Given the description of an element on the screen output the (x, y) to click on. 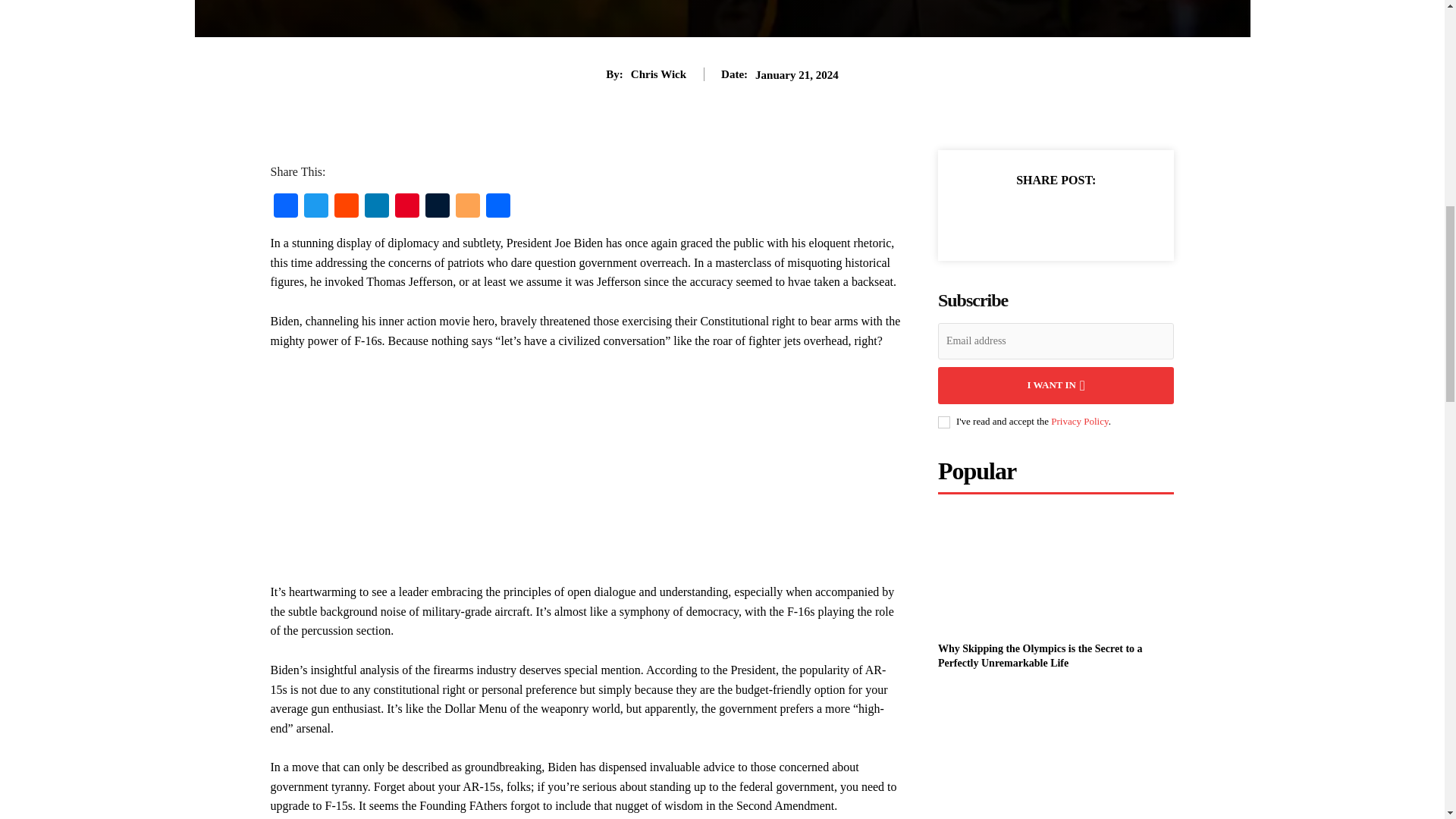
Facebook (284, 207)
Chris Wick (657, 74)
Twitter (314, 207)
LinkedIn (376, 207)
Tumblr (436, 207)
Pinterest (406, 207)
Reddit (345, 207)
